Given the description of an element on the screen output the (x, y) to click on. 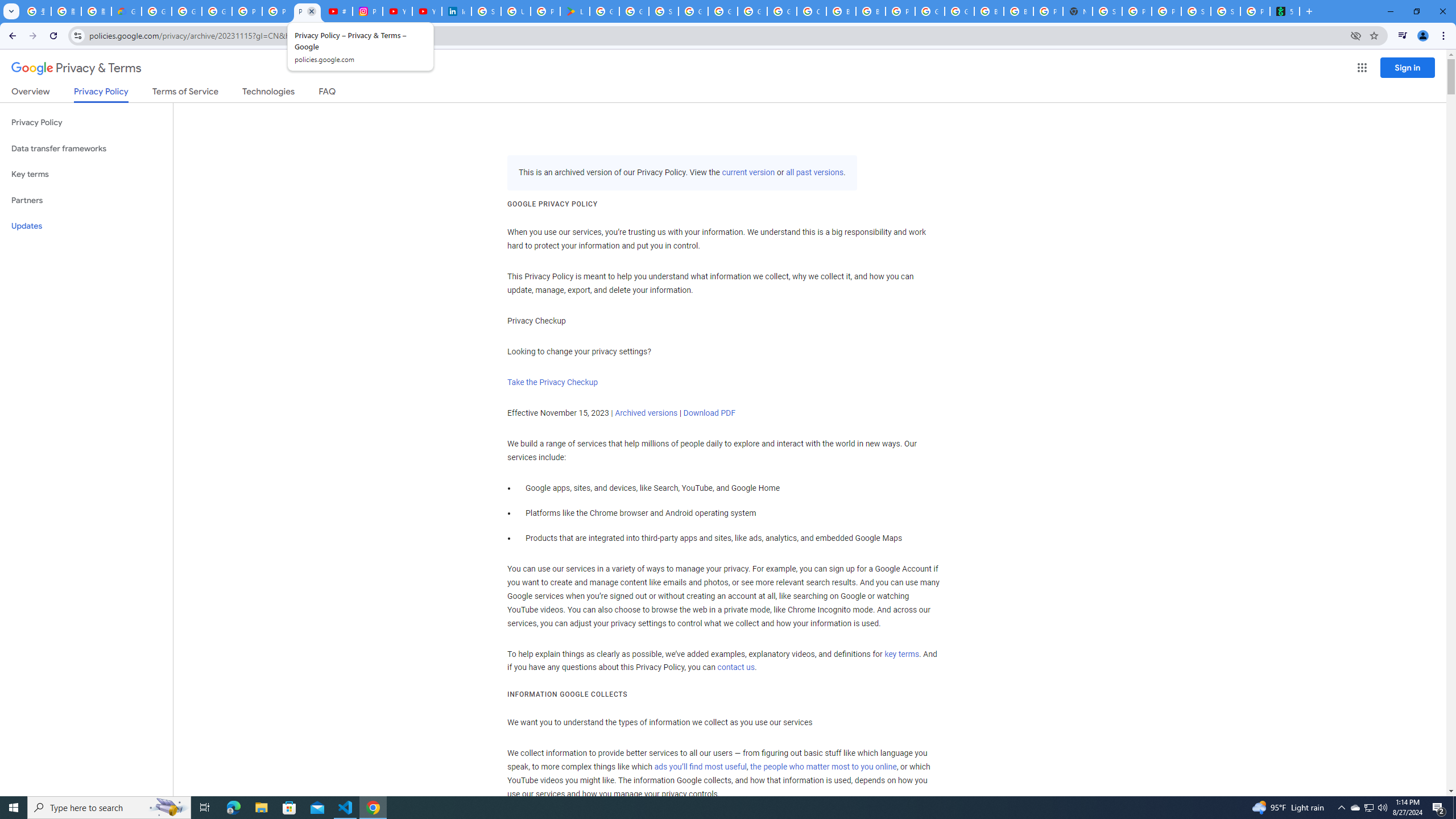
Take the Privacy Checkup (552, 381)
current version (748, 172)
key terms (900, 653)
